Given the description of an element on the screen output the (x, y) to click on. 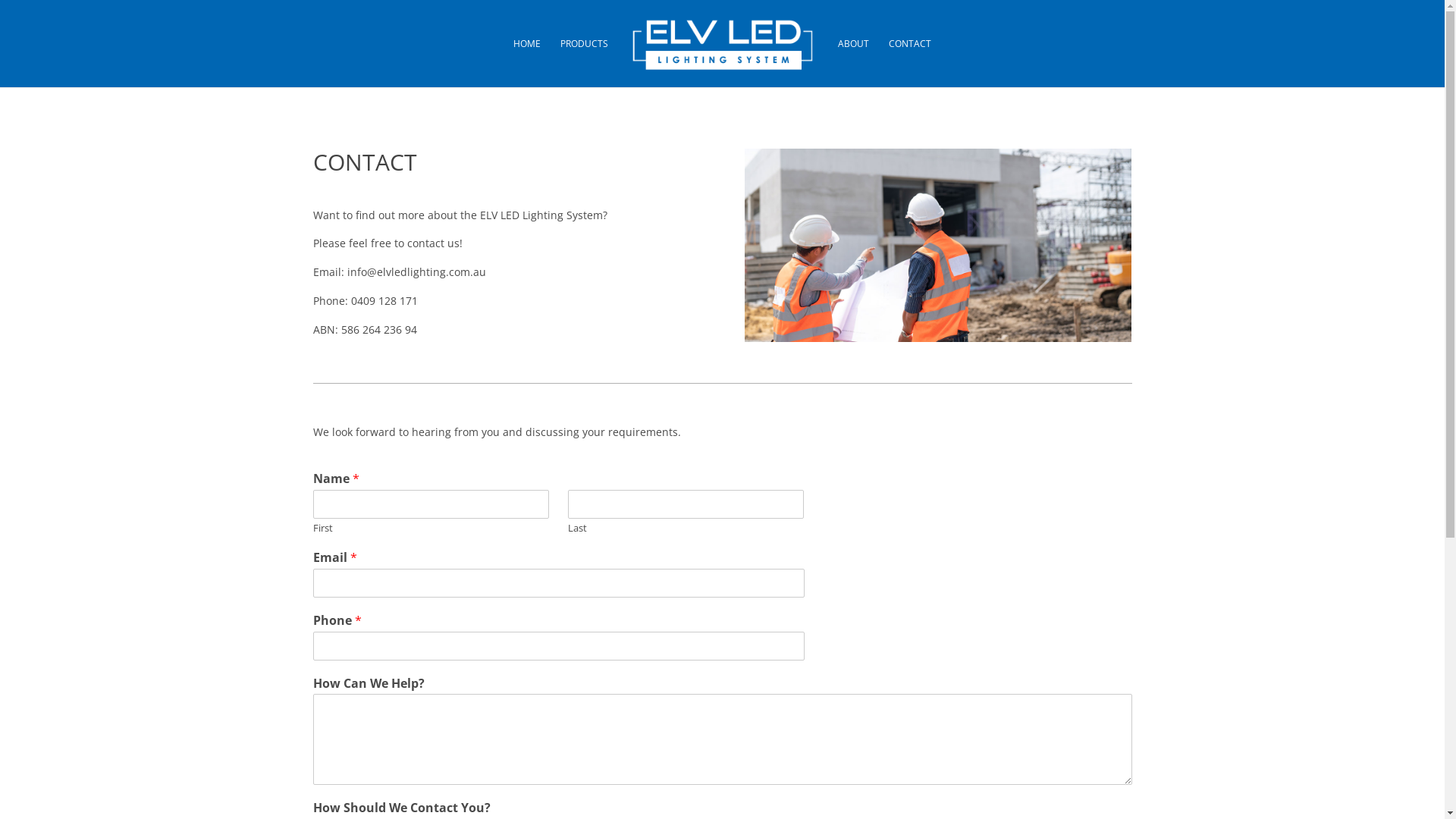
ABOUT Element type: text (853, 62)
CONTACT Element type: text (909, 62)
PRODUCTS Element type: text (584, 62)
HOME Element type: text (526, 62)
